Given the description of an element on the screen output the (x, y) to click on. 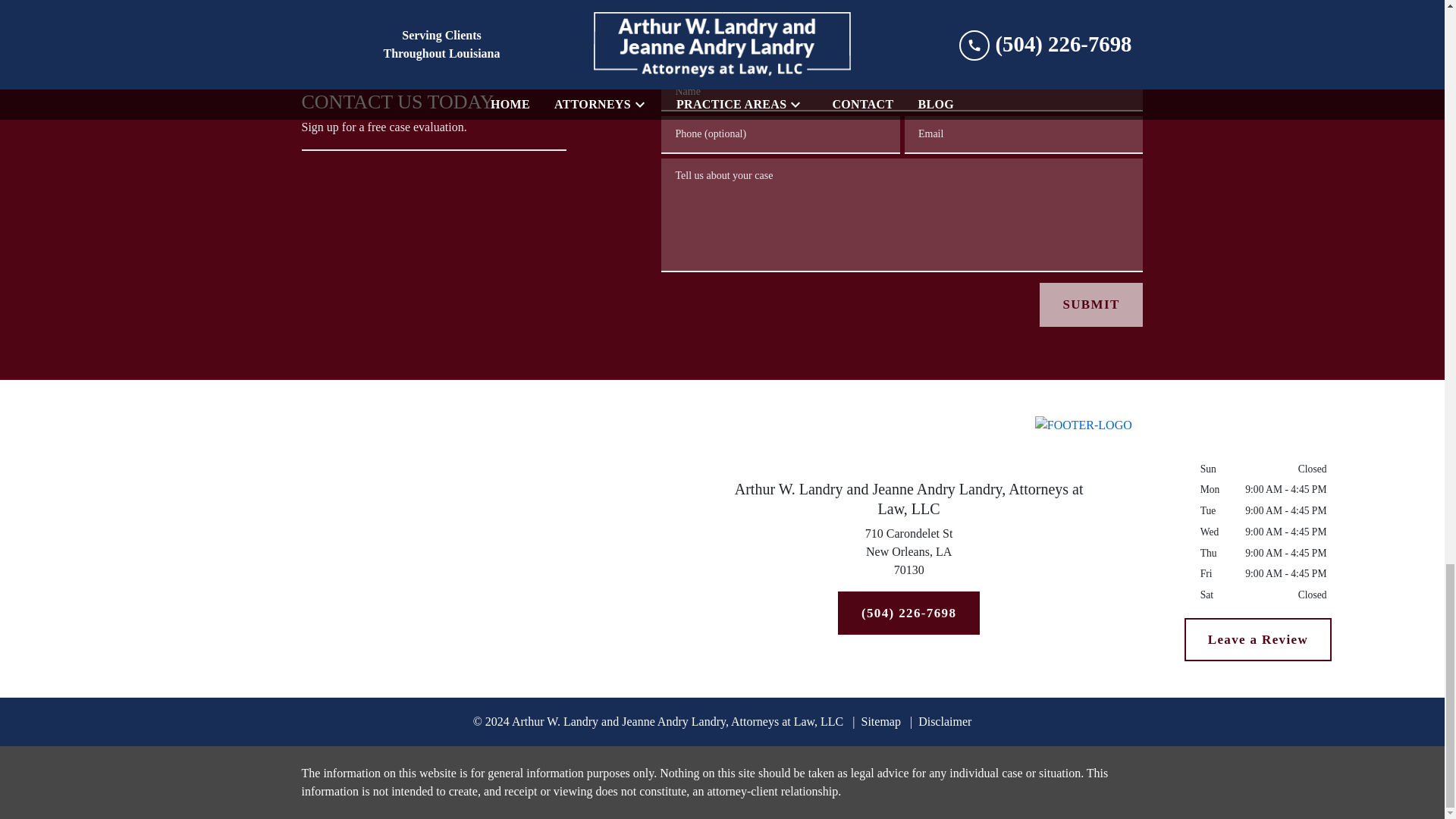
Leave a Review (908, 554)
SUBMIT (1258, 639)
Disclaimer (1090, 304)
Sitemap (940, 721)
